Given the description of an element on the screen output the (x, y) to click on. 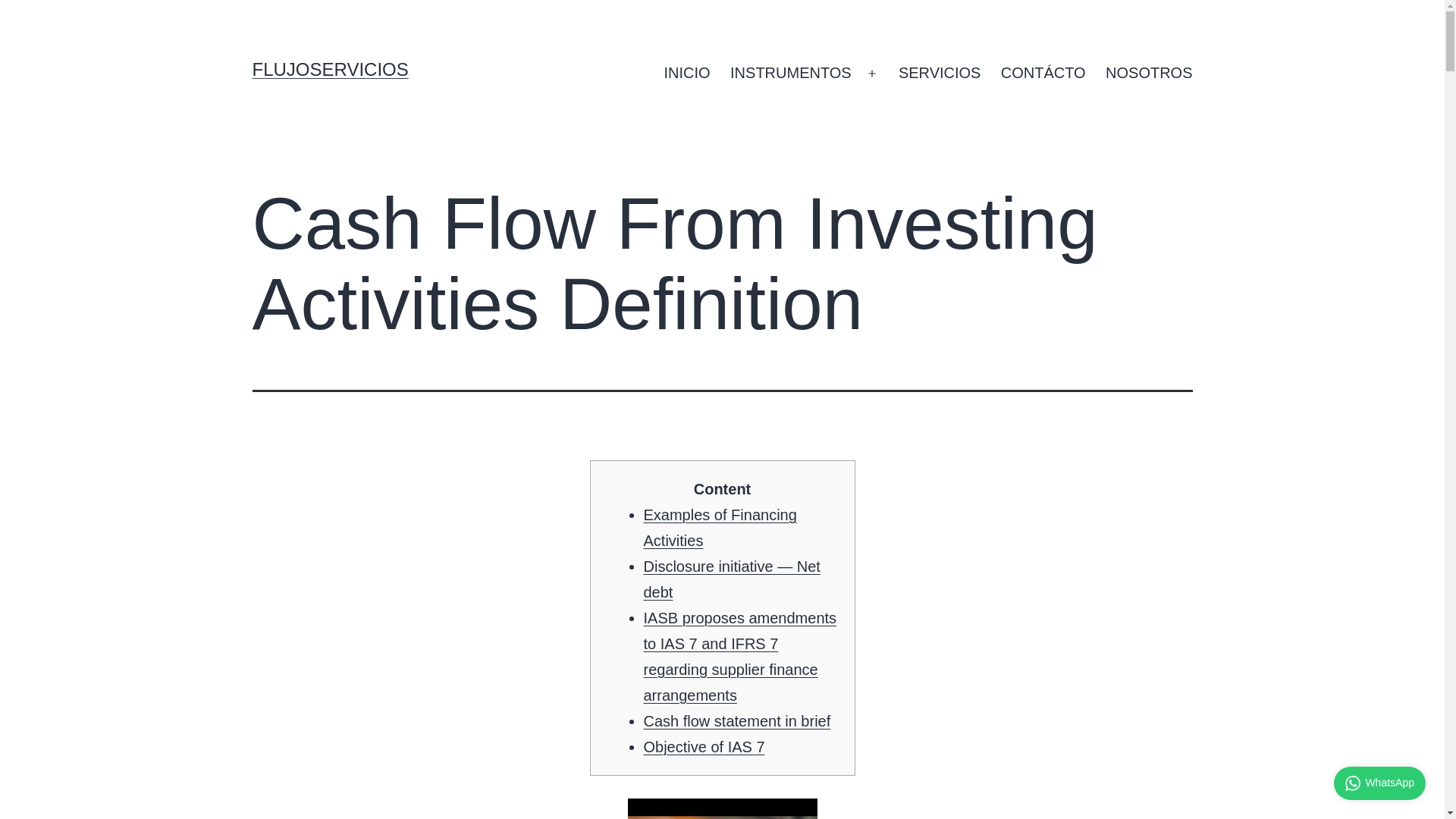
SERVICIOS (939, 73)
Cash flow statement in brief (736, 720)
Objective of IAS 7 (703, 746)
INSTRUMENTOS (790, 73)
NOSOTROS (1149, 73)
Examples of Financing Activities (719, 527)
INICIO (686, 73)
FLUJOSERVICIOS (329, 68)
